Given the description of an element on the screen output the (x, y) to click on. 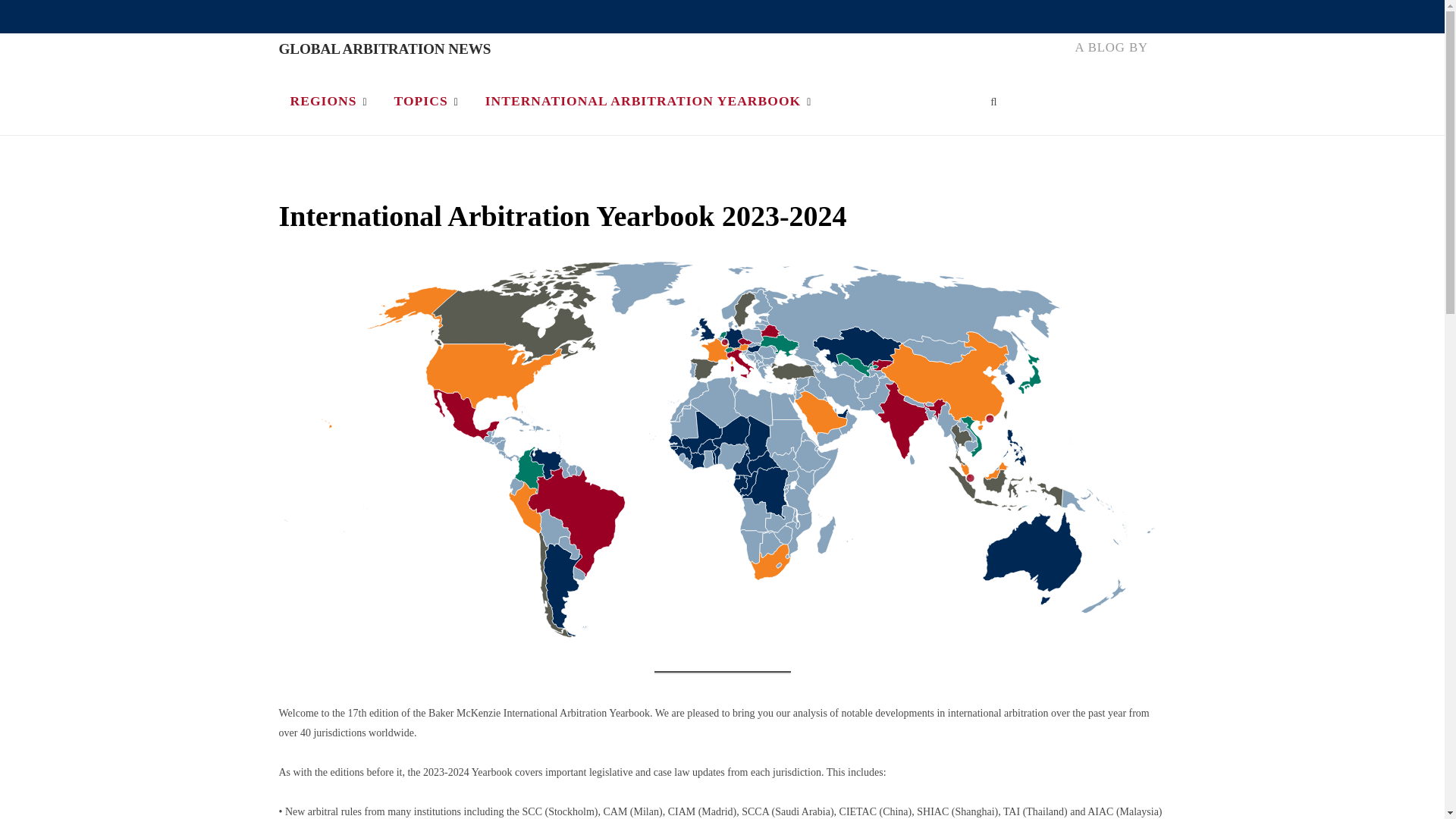
REGIONS (328, 100)
GLOBAL ARBITRATION NEWS (385, 49)
Global Arbitration News (385, 49)
